Given the description of an element on the screen output the (x, y) to click on. 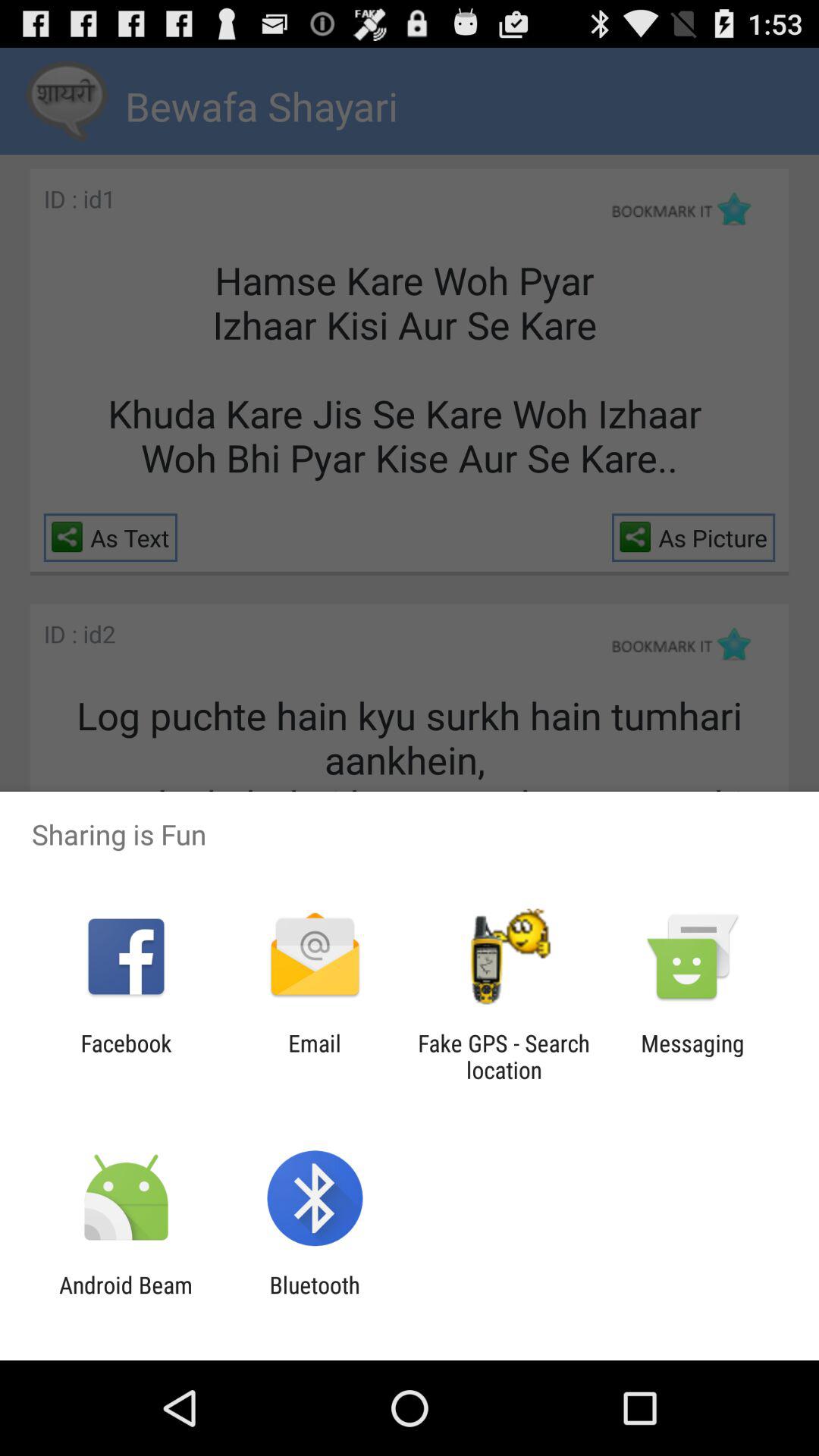
tap the icon next to the fake gps search app (692, 1056)
